Given the description of an element on the screen output the (x, y) to click on. 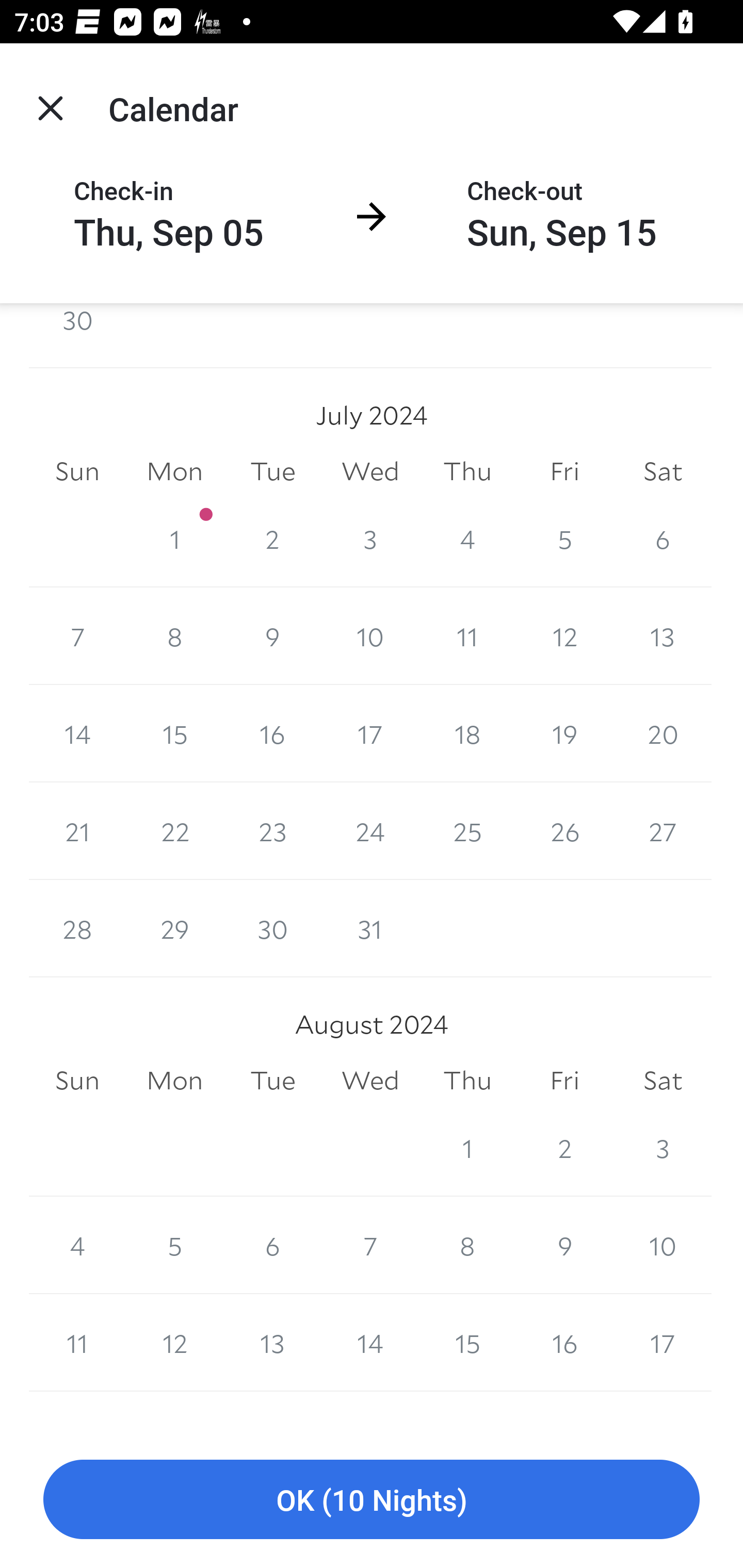
30 30 June 2024 (77, 335)
Sun (77, 471)
Mon (174, 471)
Tue (272, 471)
Wed (370, 471)
Thu (467, 471)
Fri (564, 471)
Sat (662, 471)
1 1 July 2024 (174, 538)
2 2 July 2024 (272, 538)
3 3 July 2024 (370, 538)
4 4 July 2024 (467, 538)
5 5 July 2024 (564, 538)
6 6 July 2024 (662, 538)
7 7 July 2024 (77, 636)
8 8 July 2024 (174, 636)
9 9 July 2024 (272, 636)
10 10 July 2024 (370, 636)
11 11 July 2024 (467, 636)
12 12 July 2024 (564, 636)
13 13 July 2024 (662, 636)
14 14 July 2024 (77, 733)
15 15 July 2024 (174, 733)
16 16 July 2024 (272, 733)
17 17 July 2024 (370, 733)
18 18 July 2024 (467, 733)
19 19 July 2024 (564, 733)
20 20 July 2024 (662, 733)
21 21 July 2024 (77, 830)
22 22 July 2024 (174, 830)
23 23 July 2024 (272, 830)
24 24 July 2024 (370, 830)
25 25 July 2024 (467, 830)
26 26 July 2024 (564, 830)
27 27 July 2024 (662, 830)
28 28 July 2024 (77, 927)
29 29 July 2024 (174, 927)
30 30 July 2024 (272, 927)
31 31 July 2024 (370, 927)
Sun (77, 1080)
Mon (174, 1080)
Tue (272, 1080)
Wed (370, 1080)
Thu (467, 1080)
Fri (564, 1080)
Sat (662, 1080)
1 1 August 2024 (467, 1147)
2 2 August 2024 (564, 1147)
3 3 August 2024 (662, 1147)
